Given the description of an element on the screen output the (x, y) to click on. 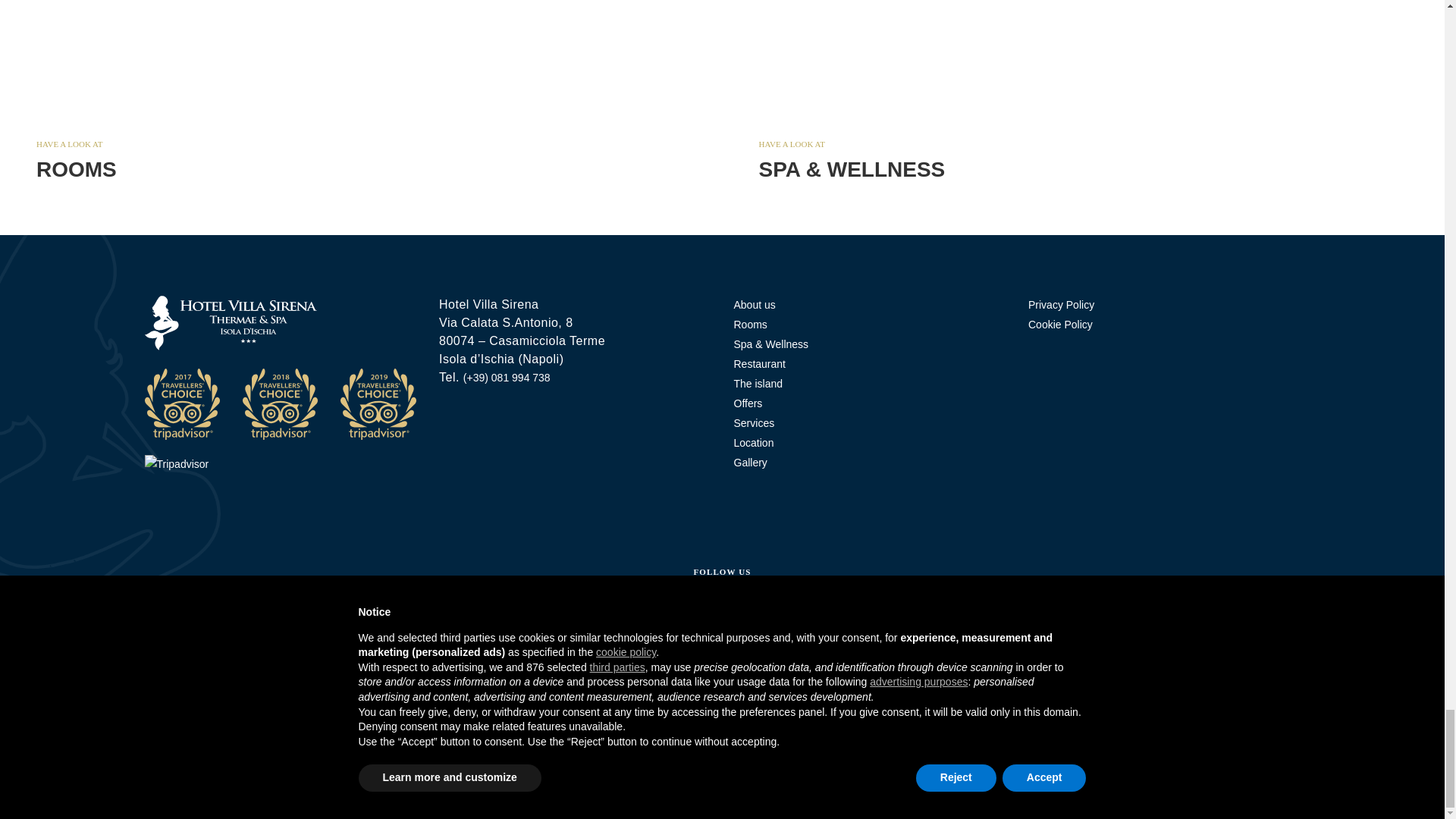
medialabs (1277, 739)
Privacy Policy  (1060, 304)
Restaurant (721, 607)
Restaurant (773, 607)
Restaurant (670, 607)
Cookie Policy  (1060, 324)
